Given the description of an element on the screen output the (x, y) to click on. 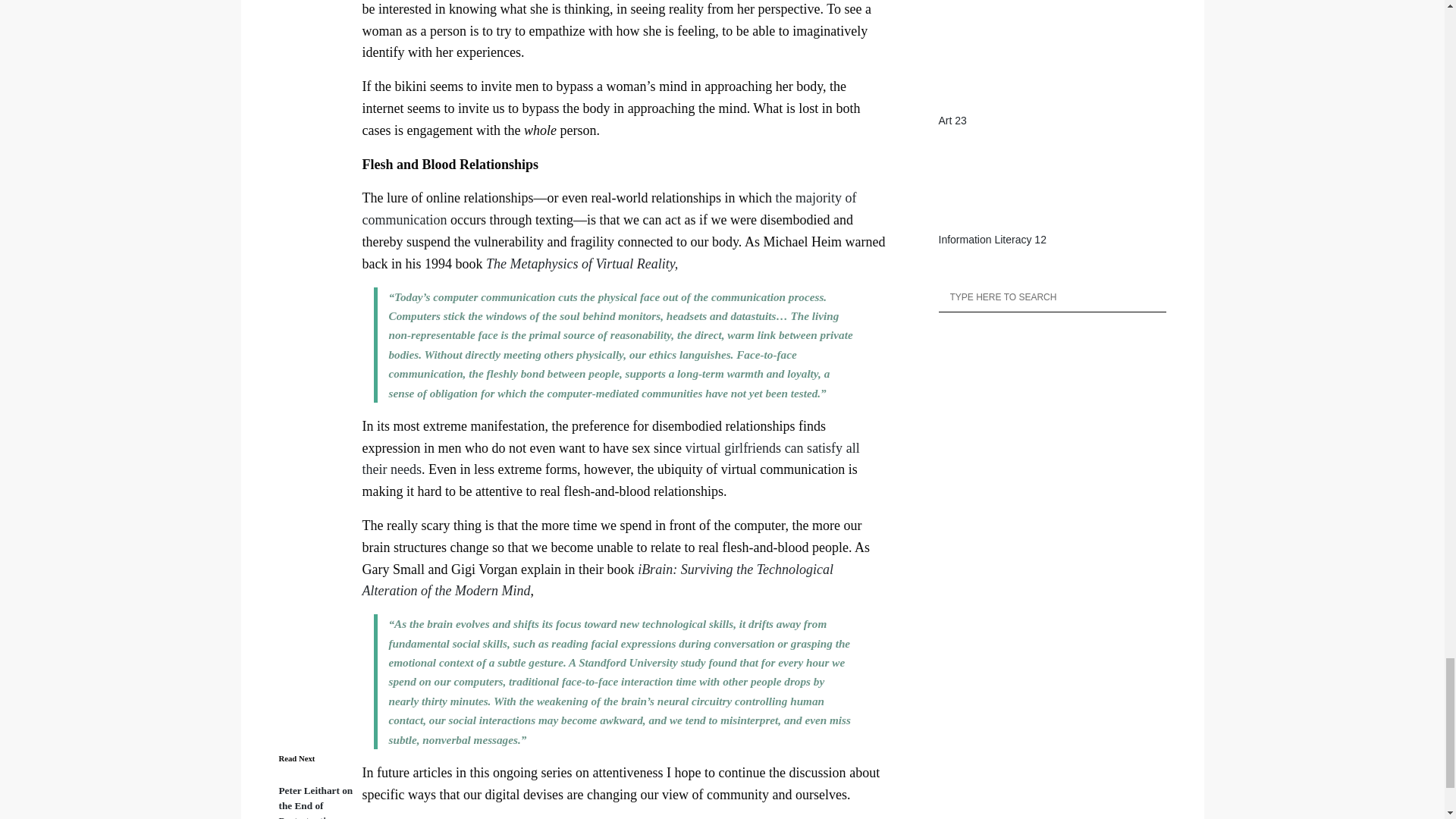
virtual girlfriends can satisfy all their needs (611, 458)
Peter Leithart on the End of Protestantism (316, 801)
The Metaphysics of Virtual Reality, (582, 263)
the majority of communication (609, 208)
